Given the description of an element on the screen output the (x, y) to click on. 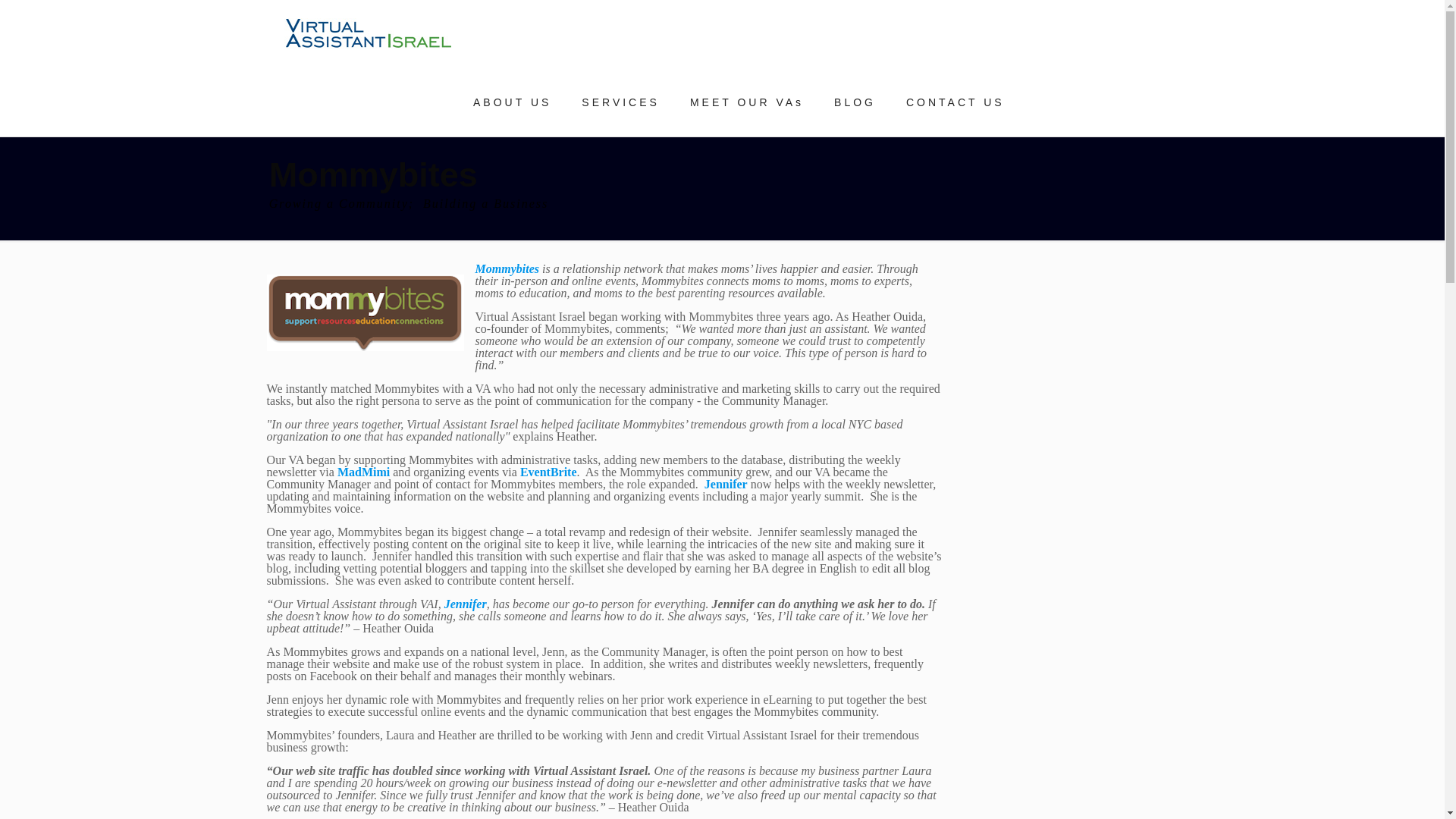
CONTACT US (955, 101)
Mommybites (507, 268)
ABOUT US (512, 101)
Work with Jennifer (465, 603)
EventBrite (547, 472)
BLOG (854, 101)
Jennifer (726, 483)
Jennifer (465, 603)
MEET OUR VAs (746, 101)
MadMimi (363, 472)
SERVICES (620, 101)
mommiebites (365, 312)
